Given the description of an element on the screen output the (x, y) to click on. 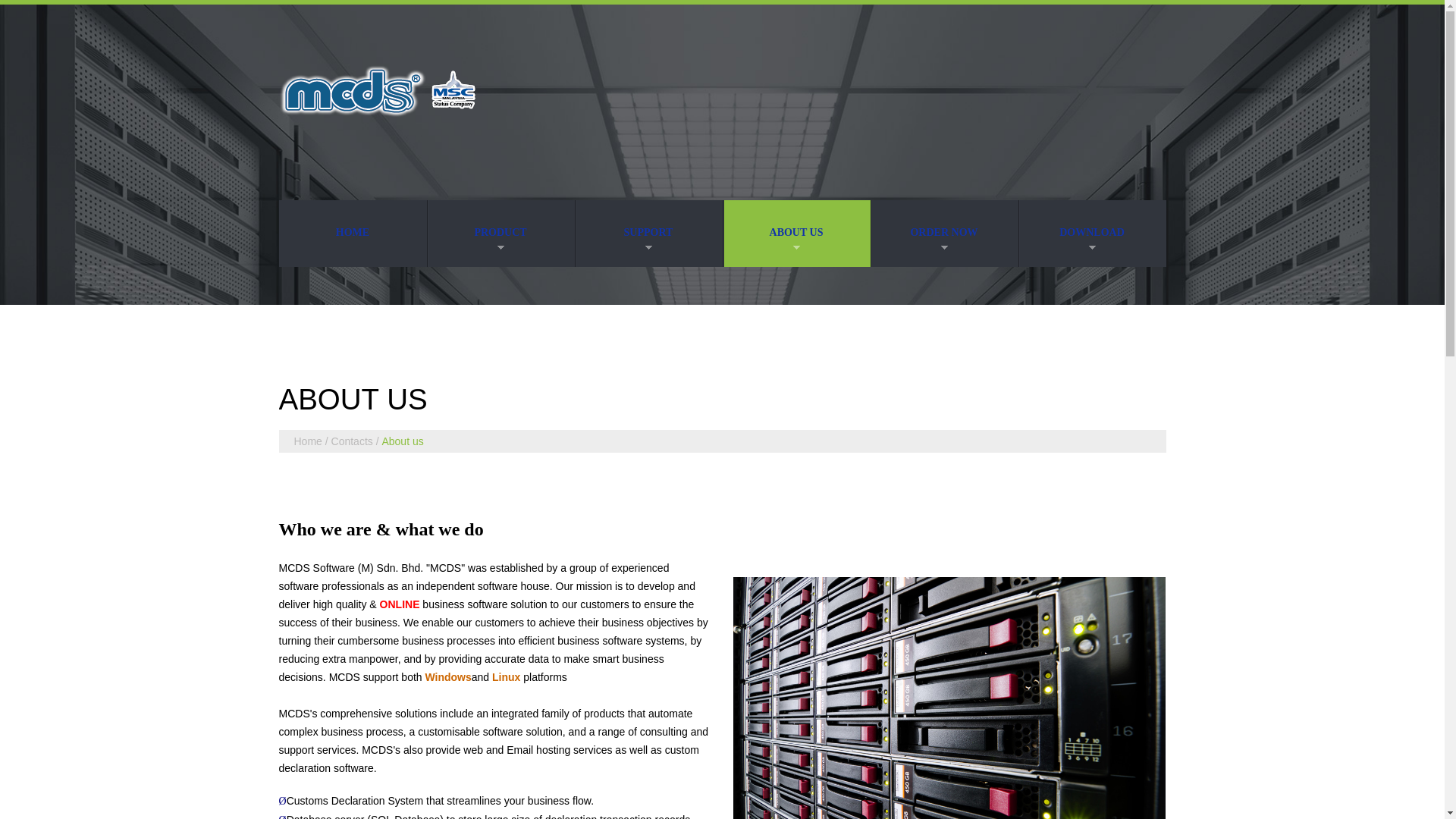
HOME (352, 232)
Home (307, 440)
Contacts (351, 440)
